Given the description of an element on the screen output the (x, y) to click on. 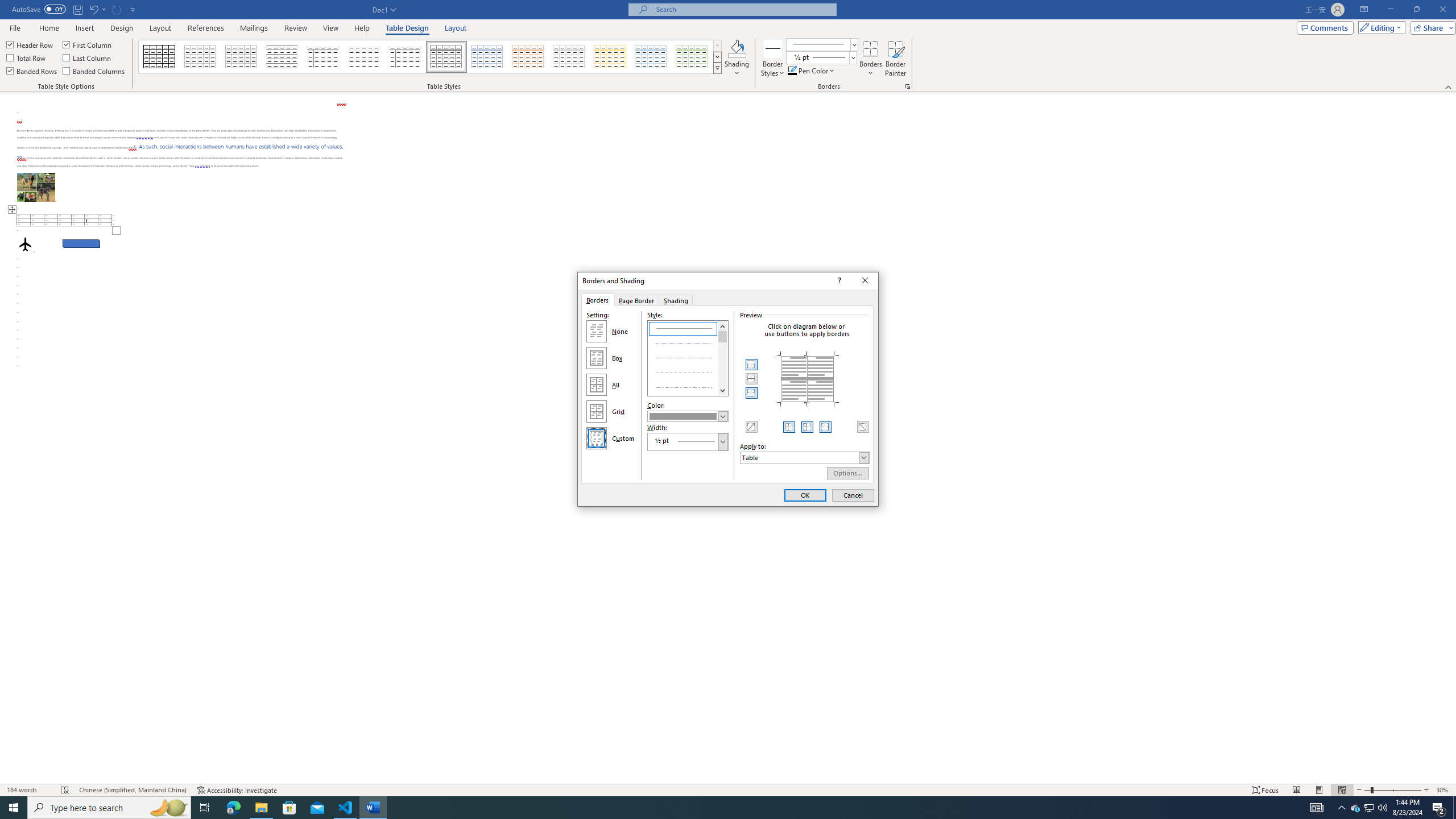
Single solid line (687, 327)
Preview (806, 379)
AutomationID: 37 (722, 358)
Table Design (407, 28)
Total Row (1355, 807)
Shading (26, 56)
Grid Table 1 Light - Accent 2 (737, 58)
Apply to: (528, 56)
